Given the description of an element on the screen output the (x, y) to click on. 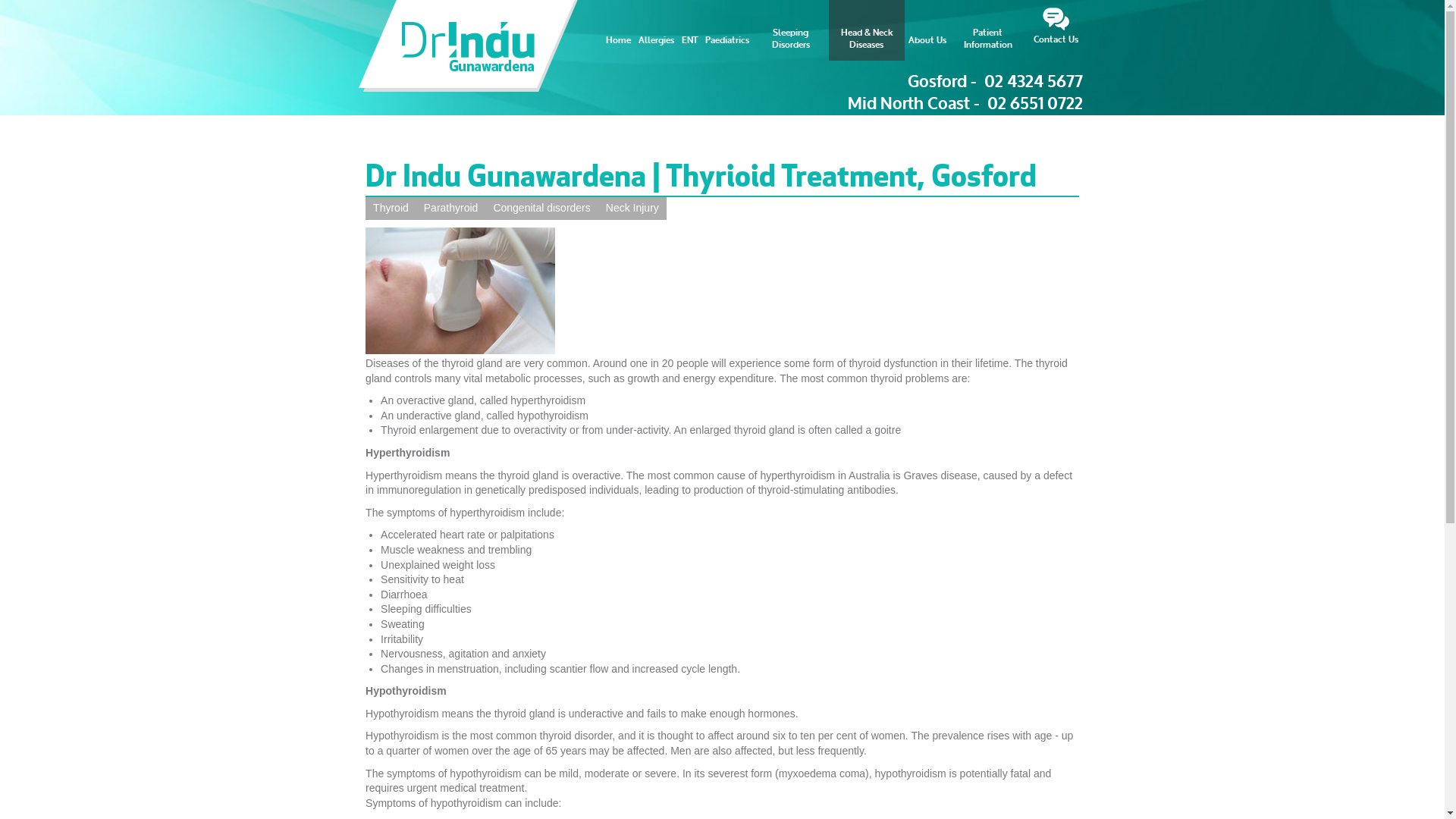
Thyroid Element type: text (390, 208)
Contact Us Element type: text (1055, 30)
Paediatrics Element type: text (726, 30)
Parathyroid Element type: text (451, 208)
ENT Element type: text (689, 30)
About Us Element type: text (926, 30)
Allergies Element type: text (655, 30)
Home Element type: text (618, 30)
Neck Injury Element type: text (632, 208)
Congenital disorders Element type: text (541, 208)
